Given the description of an element on the screen output the (x, y) to click on. 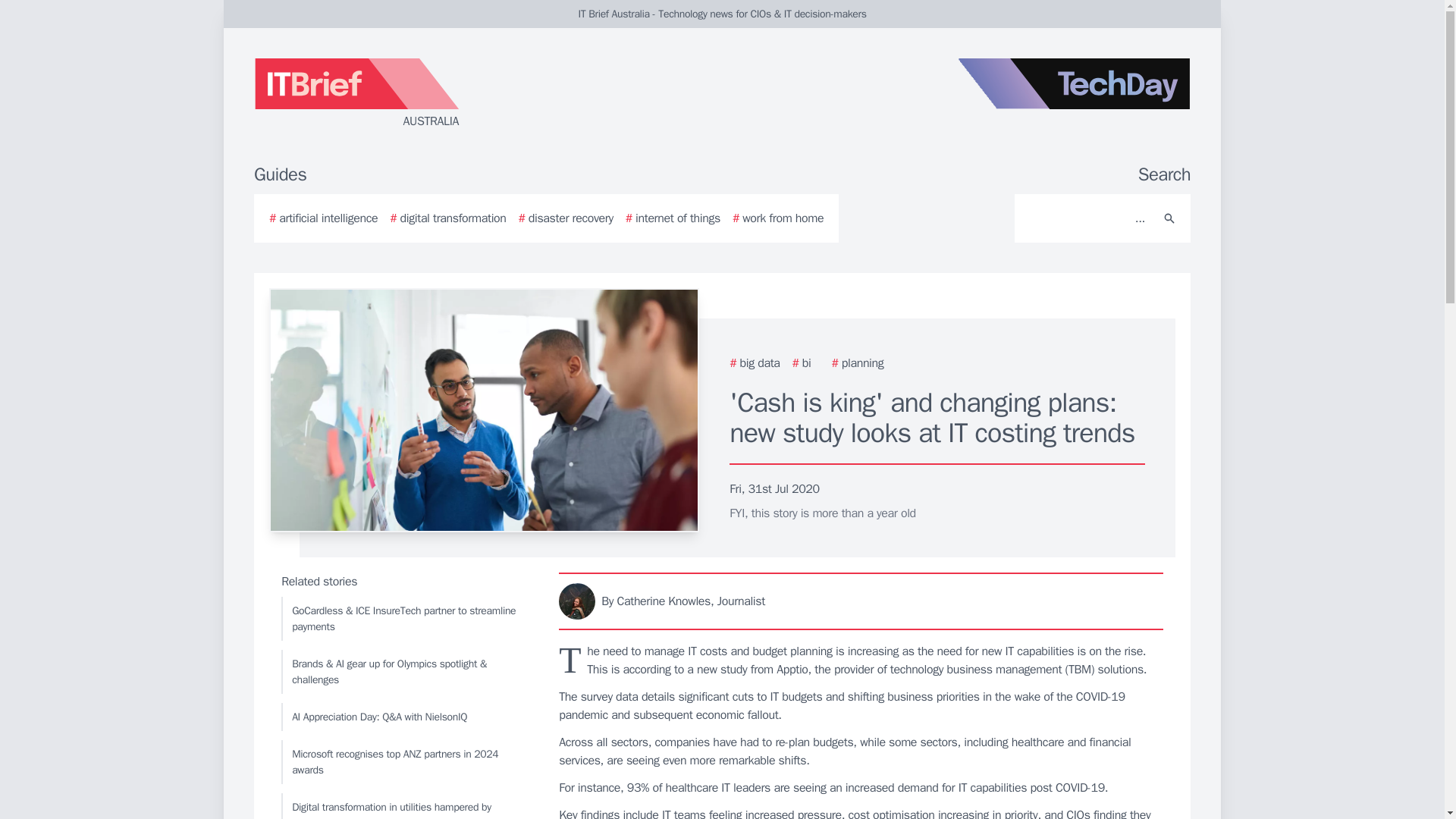
By Catherine Knowles, Journalist (861, 601)
Microsoft recognises top ANZ partners in 2024 awards (406, 761)
AUSTRALIA (435, 94)
